Given the description of an element on the screen output the (x, y) to click on. 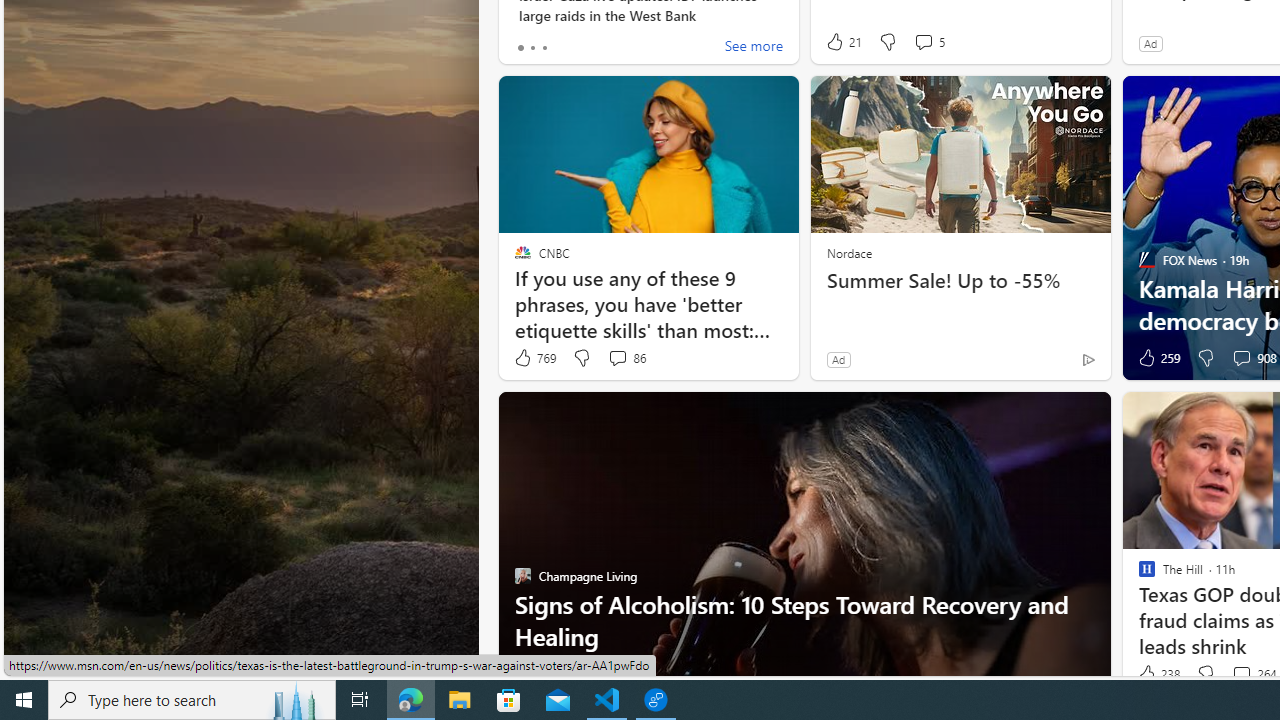
tab-1 (532, 47)
View comments 5 Comment (923, 41)
View comments 2 Comment (616, 674)
View comments 86 Comment (626, 358)
View comments 86 Comment (617, 357)
30 Like (531, 674)
769 Like (534, 358)
View comments 264 Comment (1241, 673)
View comments 2 Comment (611, 673)
tab-0 (520, 47)
